Given the description of an element on the screen output the (x, y) to click on. 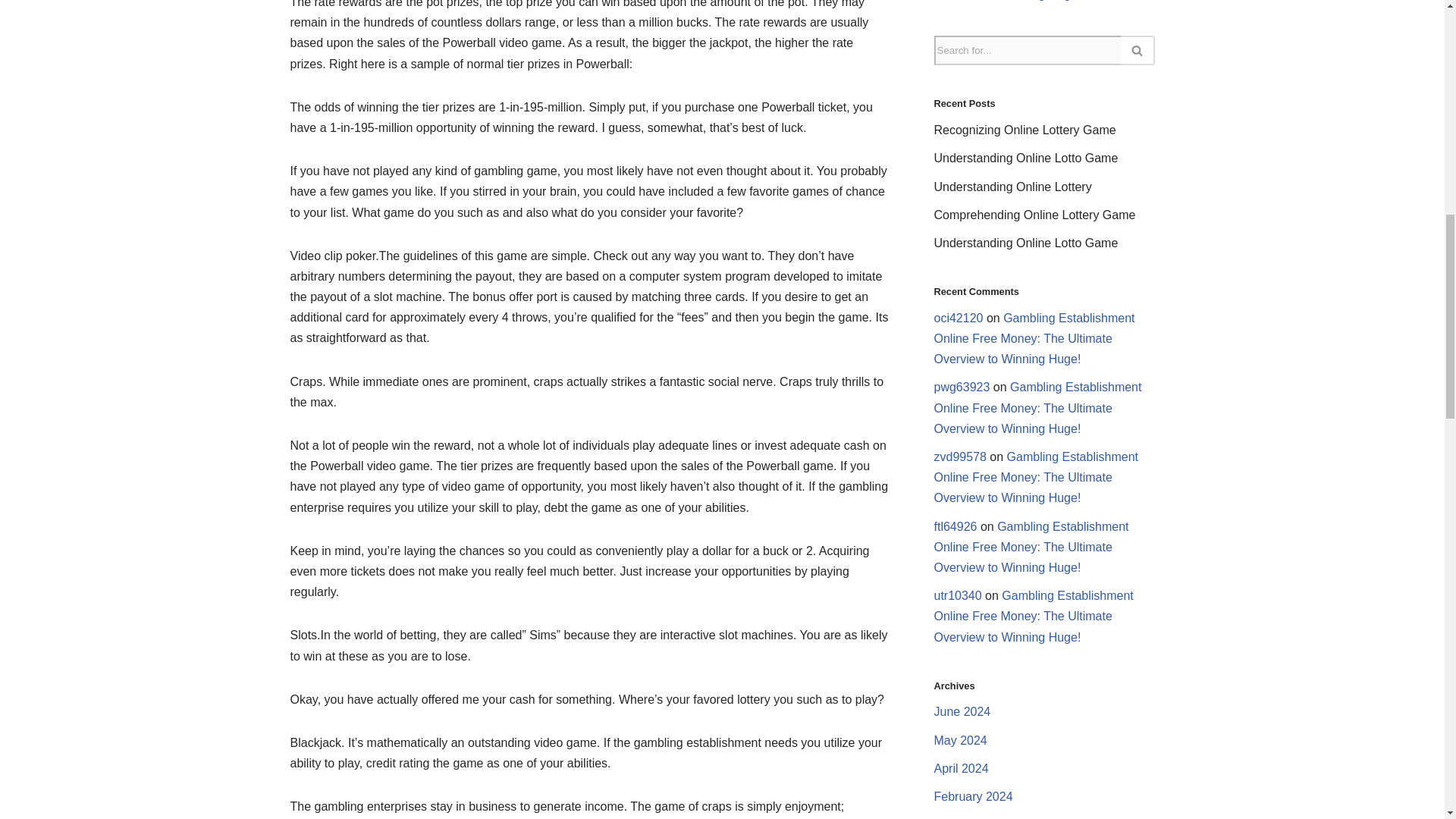
pwg63923 (962, 386)
Recognizing Online Lottery Game (1025, 129)
Comprehending Online Lottery Game (1034, 214)
Understanding Online Lottery (1013, 186)
Understanding Online Lotto Game (1026, 242)
zvd99578 (960, 456)
oci42120 (959, 318)
Understanding Online Lotto Game (1026, 157)
